Given the description of an element on the screen output the (x, y) to click on. 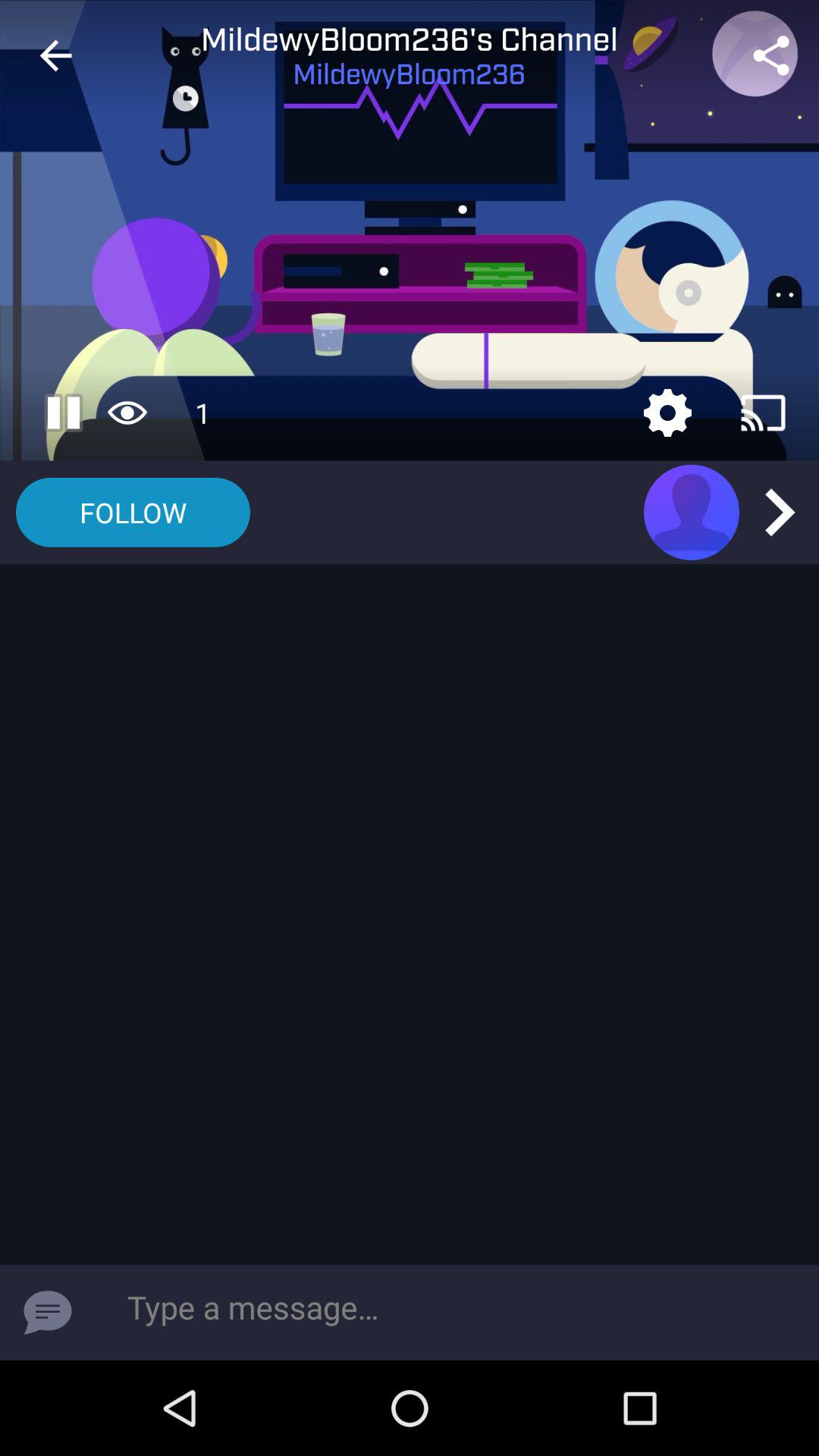
send a message (47, 1312)
